Given the description of an element on the screen output the (x, y) to click on. 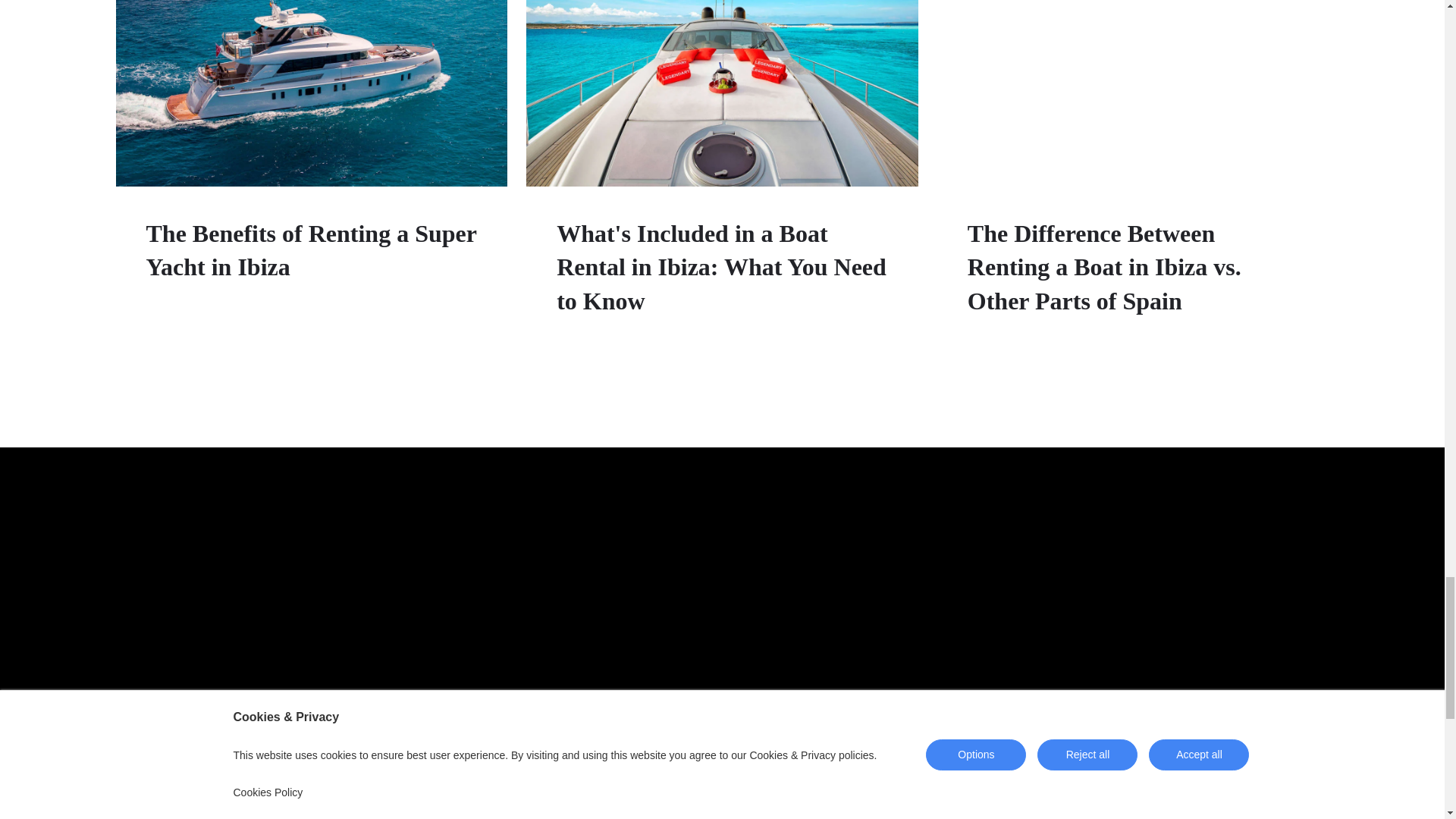
The Benefits of Renting a Super Yacht in Ibiza (310, 250)
